Given the description of an element on the screen output the (x, y) to click on. 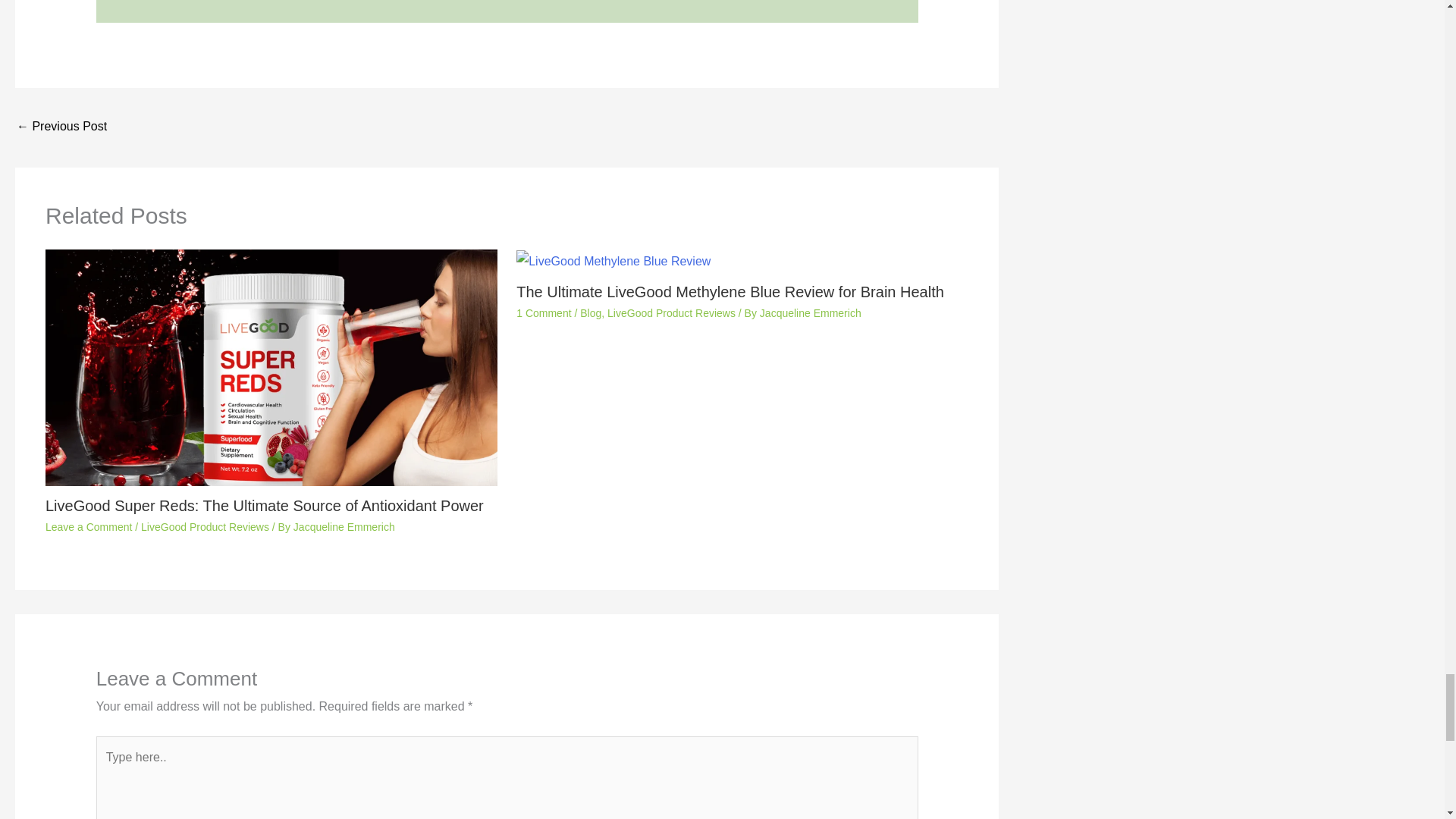
View all posts by Jacqueline Emmerich (344, 526)
LiveGood Product Reviews (205, 526)
View all posts by Jacqueline Emmerich (810, 313)
Blog (590, 313)
Jacqueline Emmerich (344, 526)
Jacqueline Emmerich (810, 313)
1 Comment (543, 313)
LiveGood Product Reviews (671, 313)
Leave a Comment (88, 526)
